Given the description of an element on the screen output the (x, y) to click on. 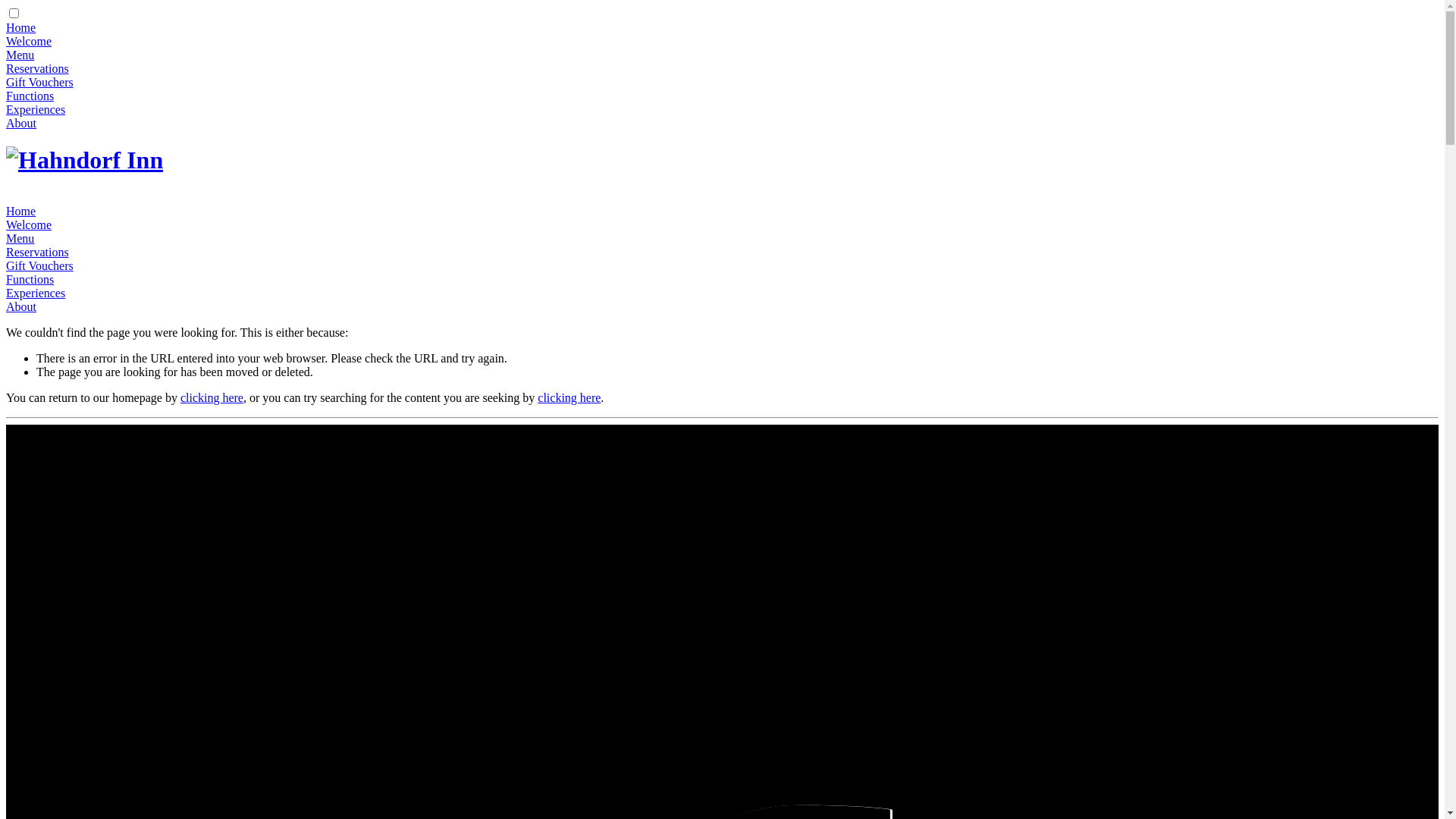
Menu Element type: text (20, 54)
Home Element type: text (20, 27)
Experiences Element type: text (35, 109)
clicking here Element type: text (568, 397)
clicking here Element type: text (211, 397)
Experiences Element type: text (35, 292)
Functions Element type: text (29, 279)
Reservations Element type: text (37, 68)
About Element type: text (21, 122)
Functions Element type: text (29, 95)
About Element type: text (21, 306)
Reservations Element type: text (37, 251)
Welcome Element type: text (28, 224)
Menu Element type: text (20, 238)
Welcome Element type: text (28, 40)
Gift Vouchers Element type: text (39, 81)
Gift Vouchers Element type: text (39, 265)
Home Element type: text (20, 210)
